Given the description of an element on the screen output the (x, y) to click on. 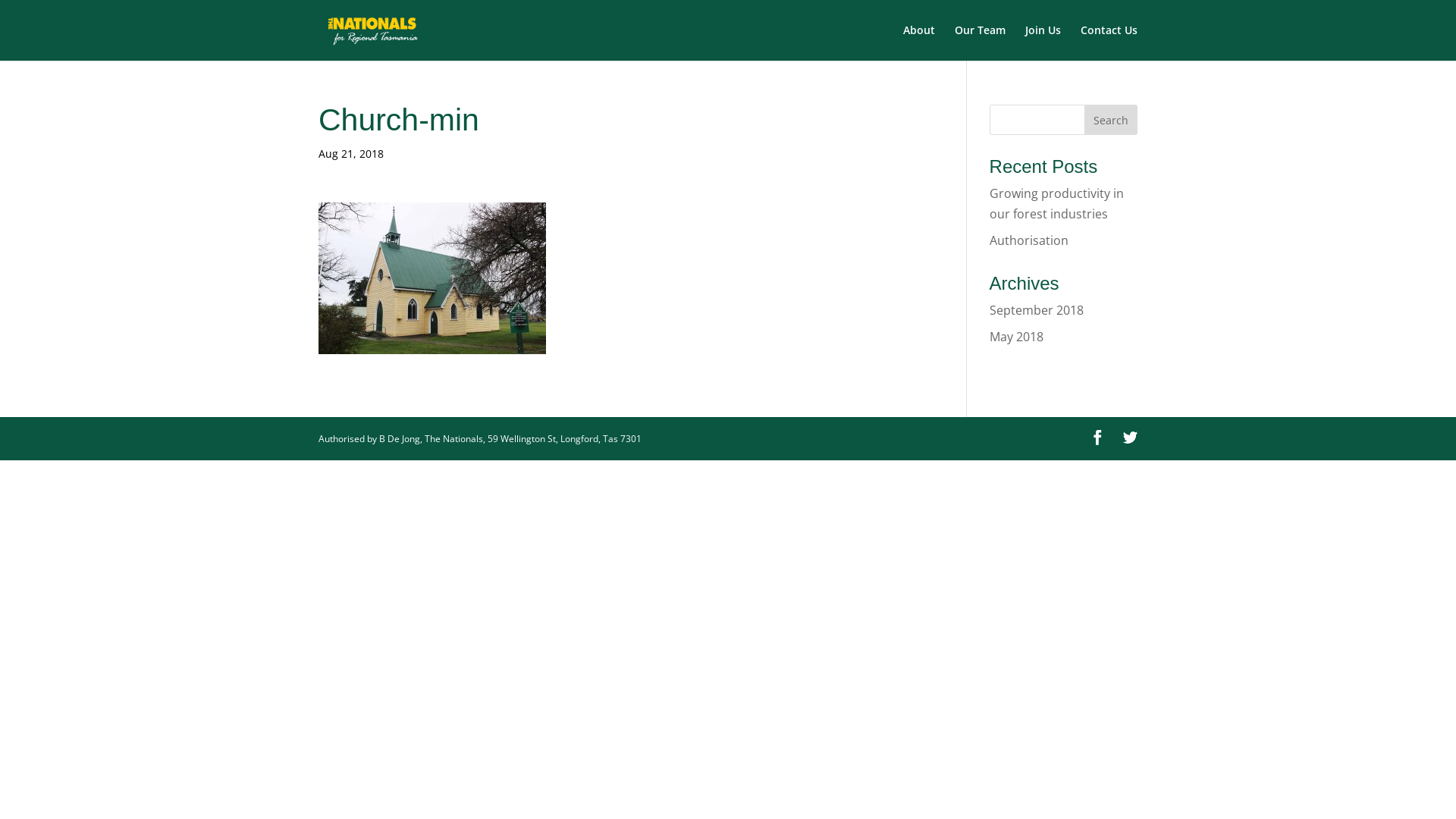
Contact Us Element type: text (1108, 42)
Our Team Element type: text (979, 42)
May 2018 Element type: text (1016, 336)
September 2018 Element type: text (1036, 309)
Join Us Element type: text (1042, 42)
Growing productivity in our forest industries Element type: text (1056, 203)
Authorisation Element type: text (1028, 240)
Search Element type: text (1110, 119)
About Element type: text (919, 42)
